Given the description of an element on the screen output the (x, y) to click on. 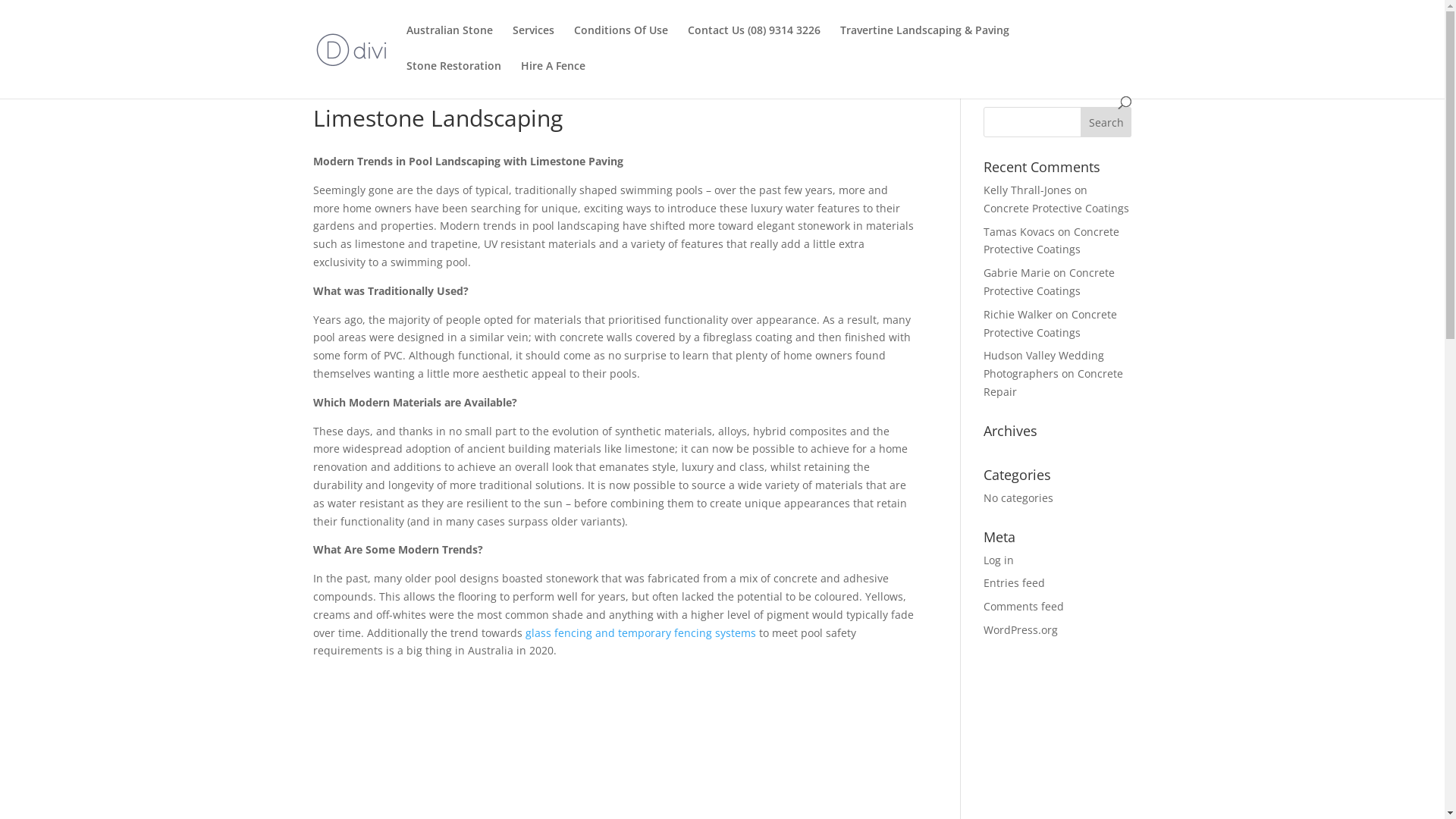
Services Element type: text (533, 42)
Concrete Repair Element type: text (1053, 382)
Comments feed Element type: text (1023, 606)
Concrete Protective Coatings Element type: text (1048, 281)
glass fencing and temporary fencing systems Element type: text (639, 632)
Travertine Landscaping & Paving Element type: text (924, 42)
Concrete Protective Coatings Element type: text (1056, 207)
Log in Element type: text (998, 559)
Concrete Protective Coatings Element type: text (1050, 323)
Contact Us (08) 9314 3226 Element type: text (753, 42)
Conditions Of Use Element type: text (620, 42)
Concrete Protective Coatings Element type: text (1051, 240)
Entries feed Element type: text (1013, 582)
Australian Stone Element type: text (449, 42)
Search Element type: text (1106, 121)
Stone Restoration Element type: text (453, 78)
WordPress.org Element type: text (1020, 629)
Hire A Fence Element type: text (552, 78)
